Given the description of an element on the screen output the (x, y) to click on. 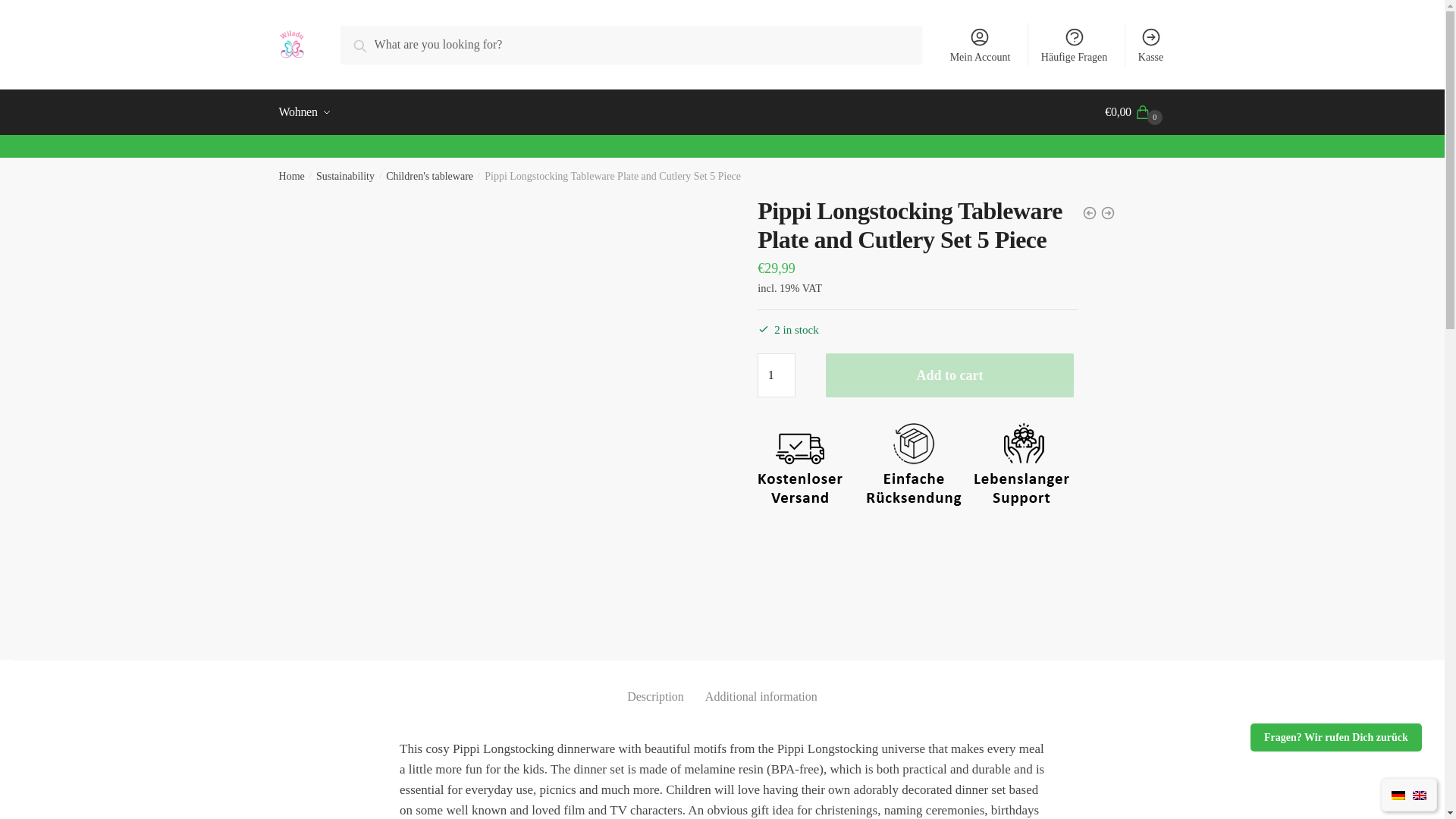
Search (373, 42)
Home (291, 175)
Kasse (1151, 44)
Additional information (760, 684)
Add to cart (949, 374)
View your shopping cart (1135, 112)
Wohnen (308, 112)
Mein Account (979, 44)
Children's tableware (429, 175)
Description (655, 684)
wpforms-submit (552, 406)
Sustainability (344, 175)
